Given the description of an element on the screen output the (x, y) to click on. 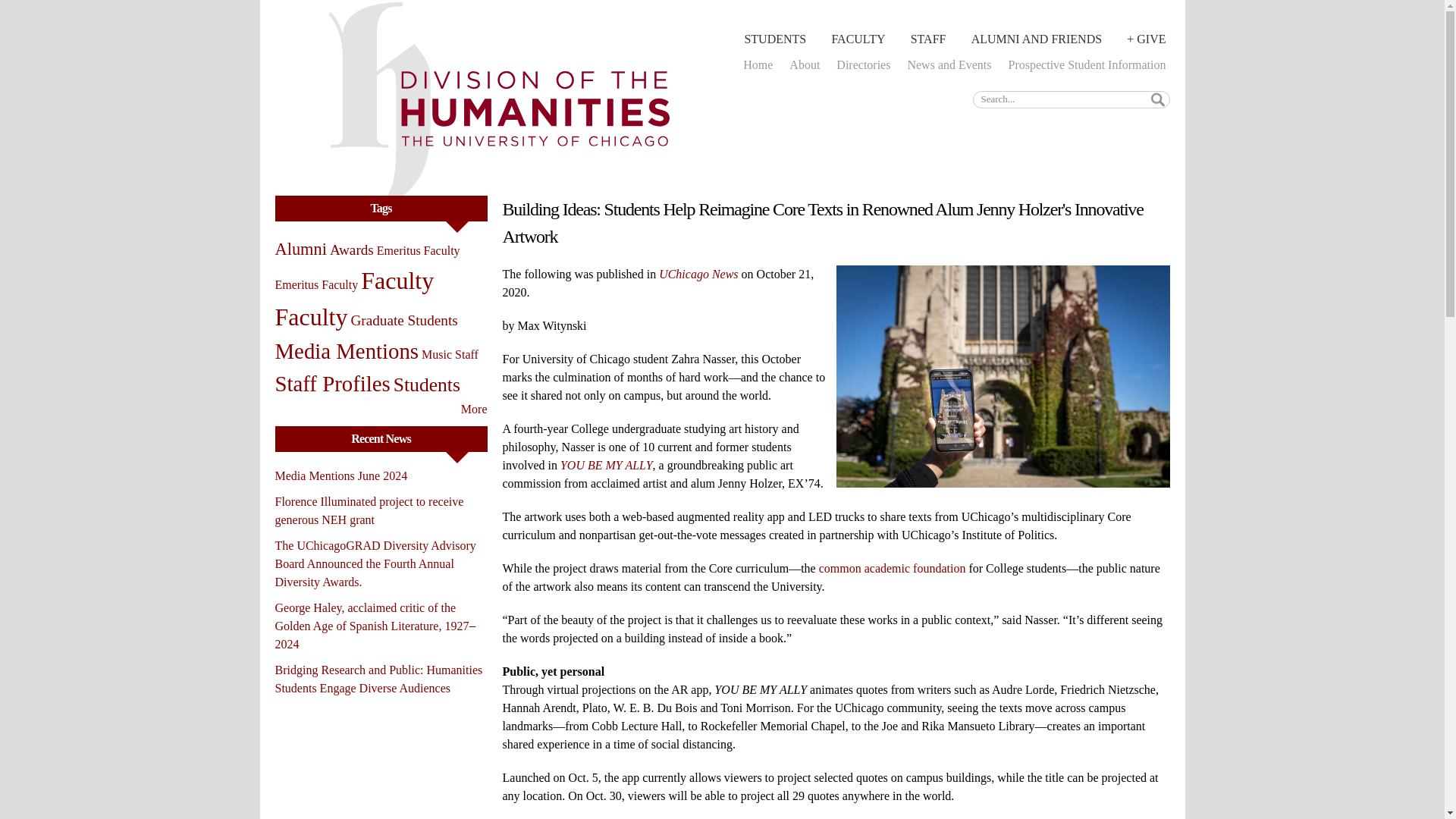
Staff Profiles (332, 383)
Music (436, 354)
Emeritus Faculty (316, 284)
STAFF (928, 38)
About (805, 64)
Skip to main content (683, 1)
Directories (862, 64)
News and Events (948, 64)
Home (757, 64)
UChicago News (698, 273)
STUDENTS (774, 38)
more tags (474, 408)
Faculty (397, 280)
